Given the description of an element on the screen output the (x, y) to click on. 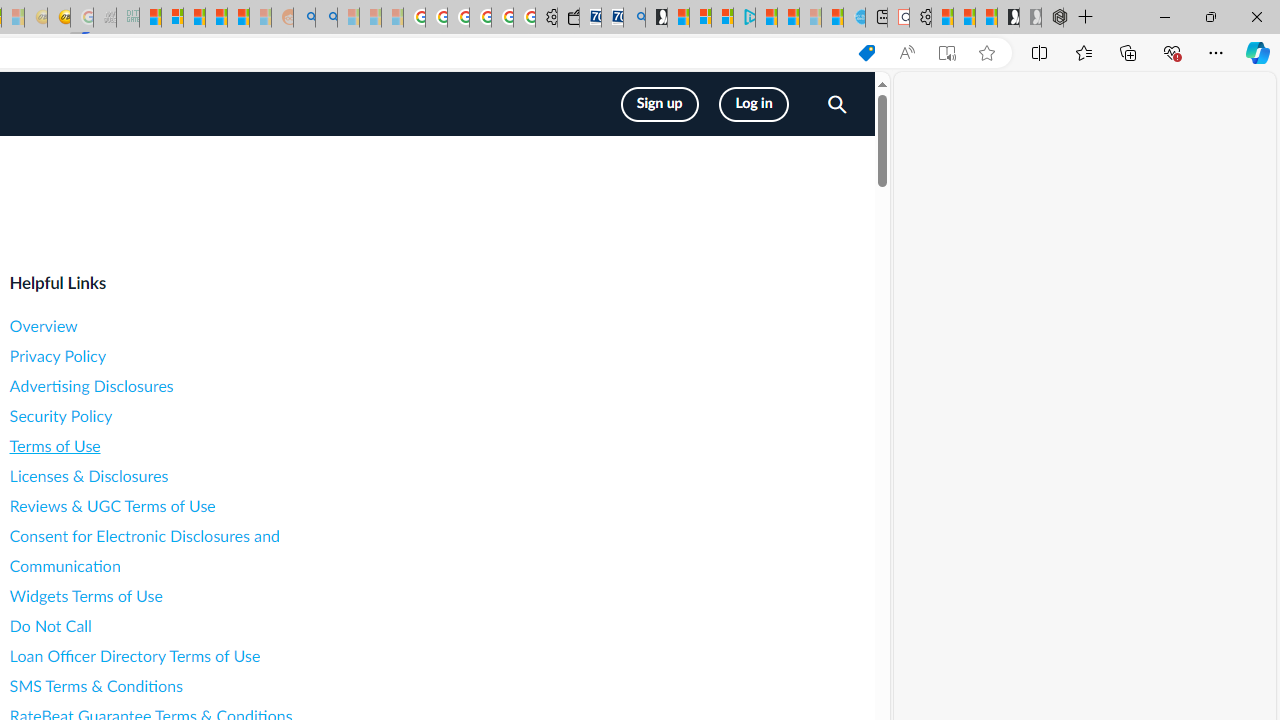
SMS Terms & Conditions (188, 686)
Privacy Policy (188, 356)
Student Loan Update: Forgiveness Program Ends This Month (238, 17)
Widgets Terms of Use (188, 596)
Log in (753, 104)
Search LendingTree (836, 106)
